Given the description of an element on the screen output the (x, y) to click on. 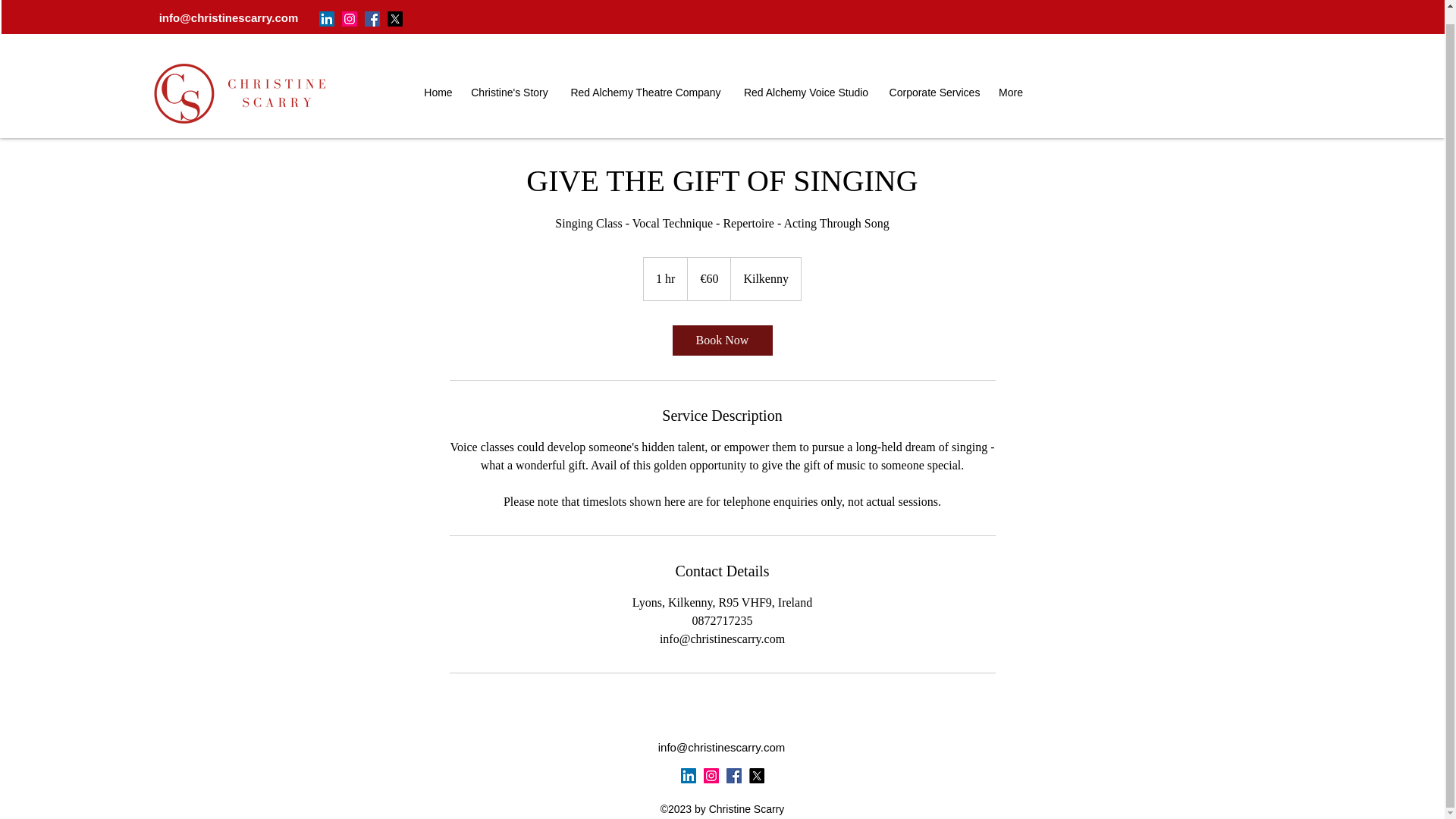
Red Alchemy Voice Studio (805, 78)
Red Alchemy Theatre Company (644, 78)
Book Now (721, 340)
Corporate Services (934, 78)
Home (437, 78)
Christine's Story (510, 78)
